Given the description of an element on the screen output the (x, y) to click on. 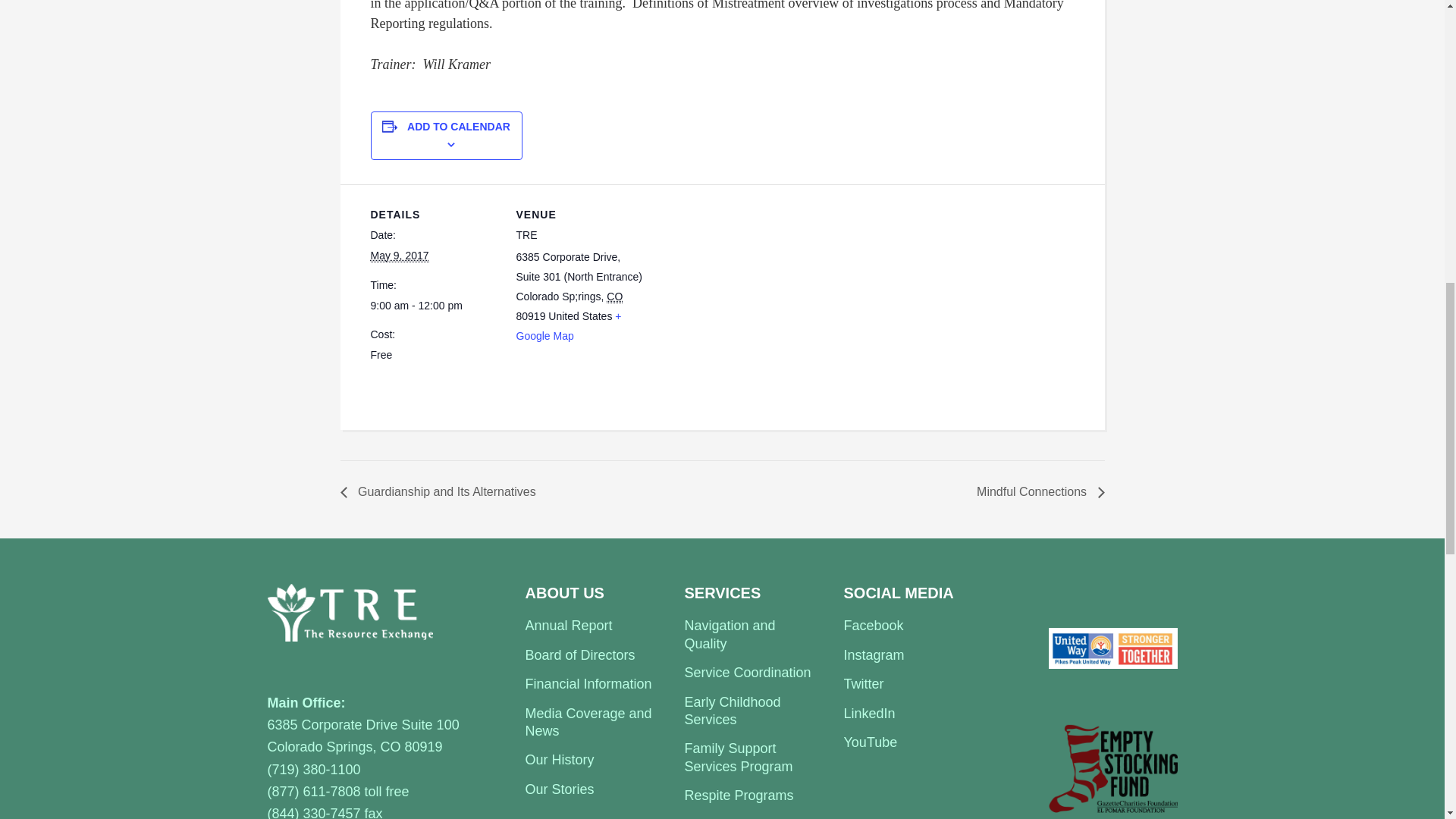
Click to view a Google Map (568, 326)
Colorado (615, 296)
2017-05-09 (433, 305)
2017-05-09 (398, 255)
